Given the description of an element on the screen output the (x, y) to click on. 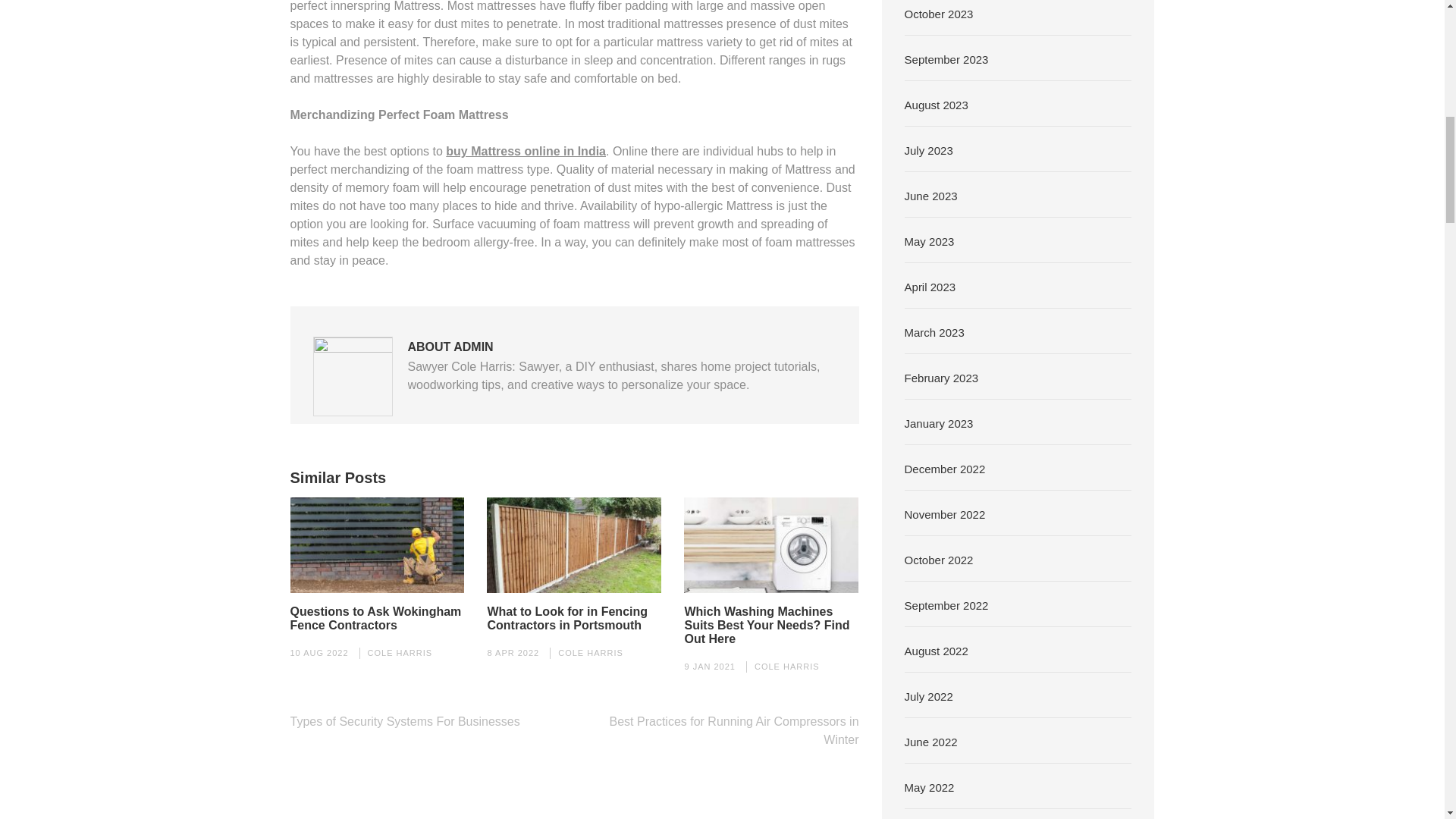
9 JAN 2021 (709, 665)
COLE HARRIS (400, 652)
buy Mattress online in India (525, 151)
Types of Security Systems For Businesses (404, 721)
Best Practices for Running Air Compressors in Winter (734, 730)
10 AUG 2022 (318, 652)
8 APR 2022 (512, 652)
What to Look for in Fencing Contractors in Portsmouth (573, 618)
COLE HARRIS (590, 652)
Which Washing Machines Suits Best Your Needs? Find Out Here (771, 625)
